Given the description of an element on the screen output the (x, y) to click on. 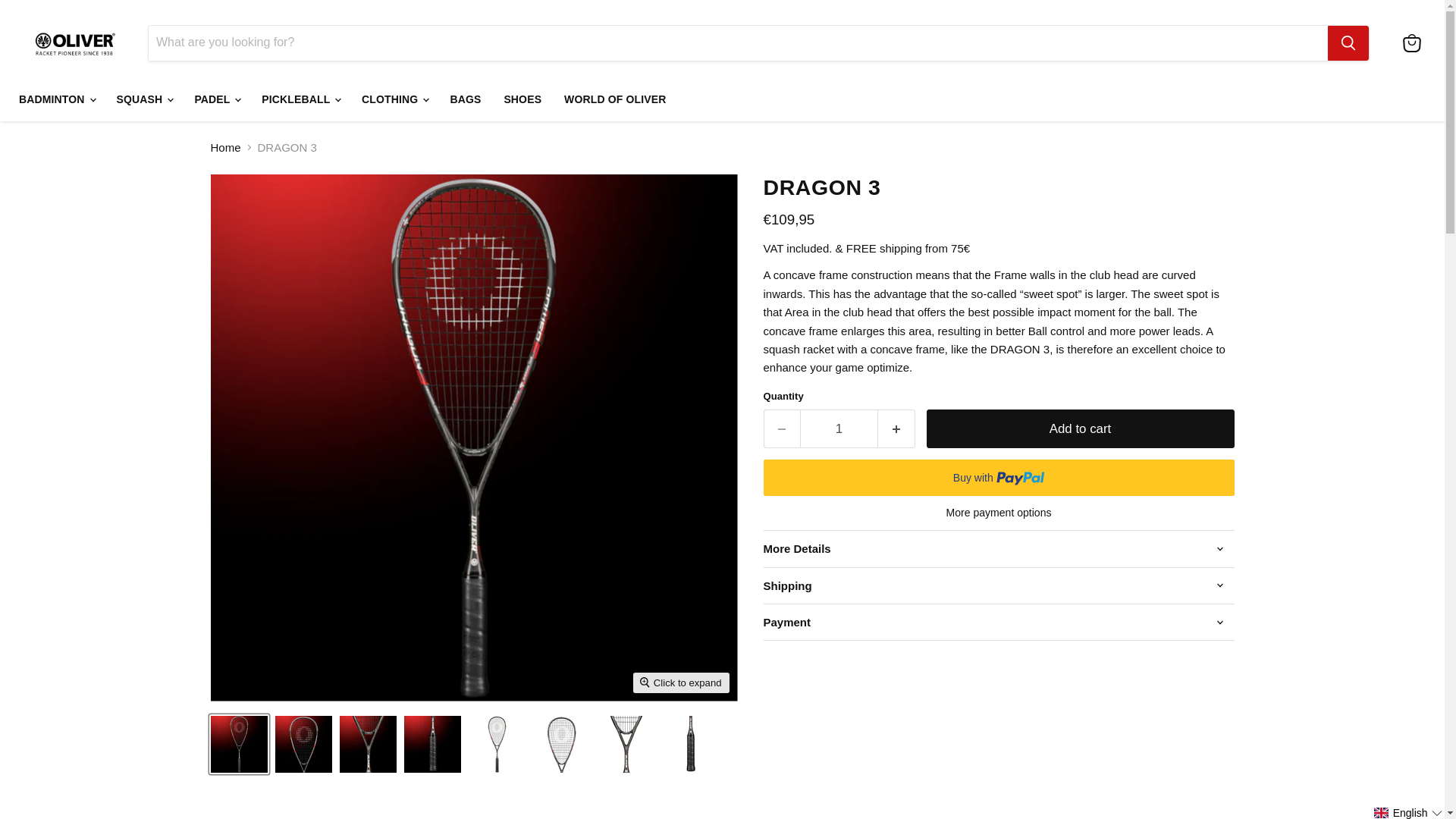
1 (838, 428)
View cart (1411, 41)
